Given the description of an element on the screen output the (x, y) to click on. 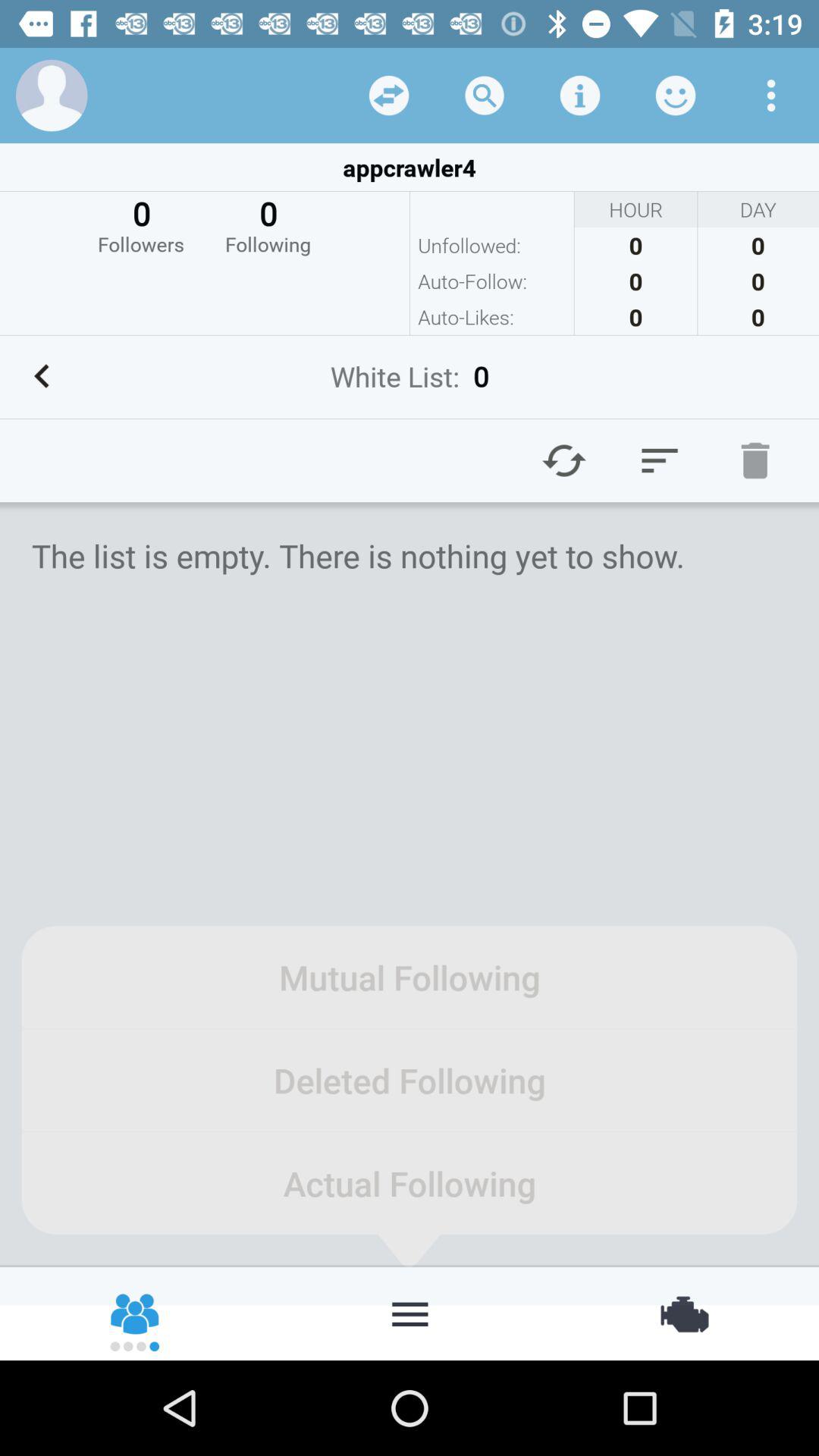
open menu (409, 1312)
